Given the description of an element on the screen output the (x, y) to click on. 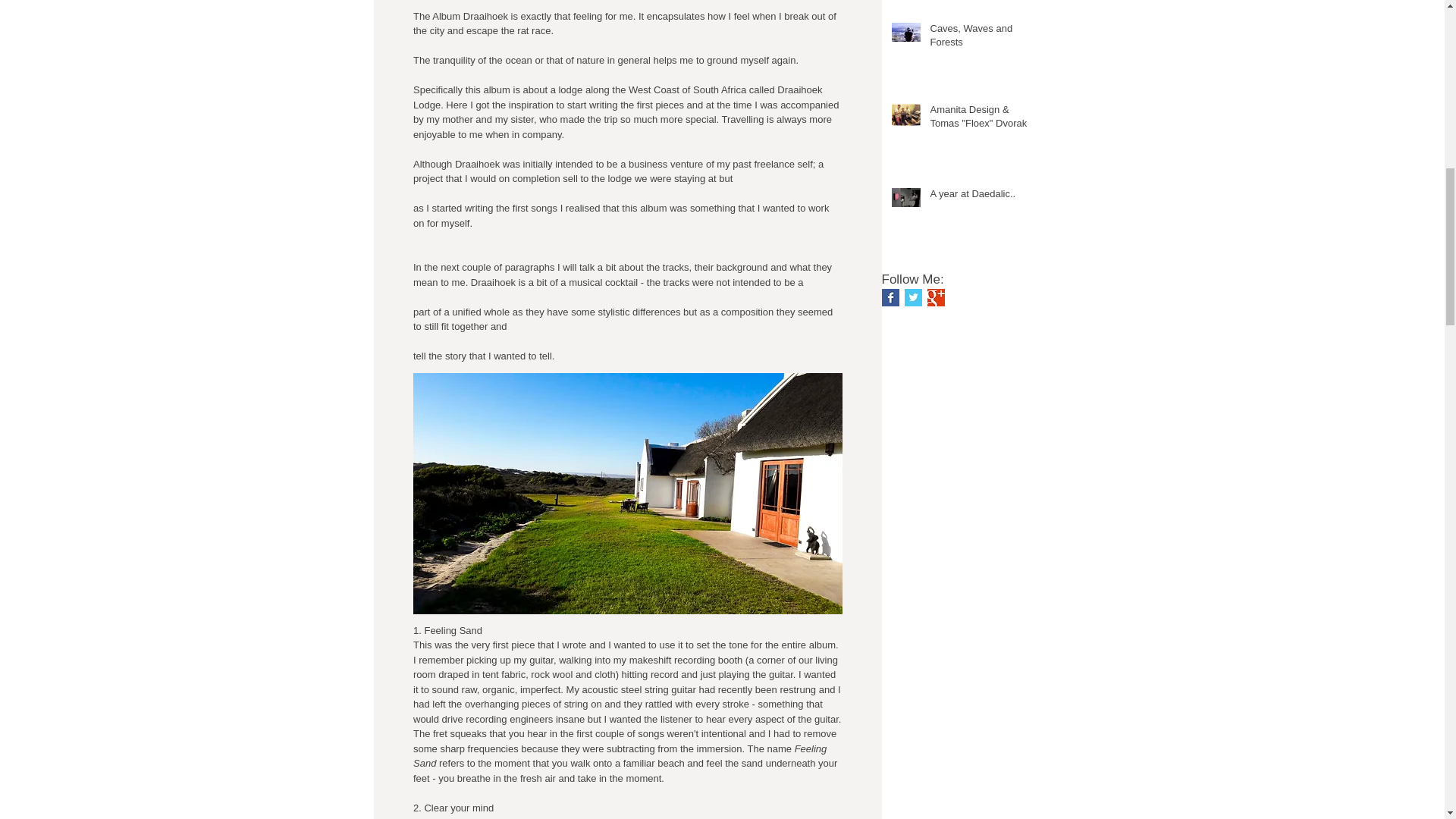
Caves, Waves and Forests (984, 38)
A year at Daedalic.. (984, 197)
